Given the description of an element on the screen output the (x, y) to click on. 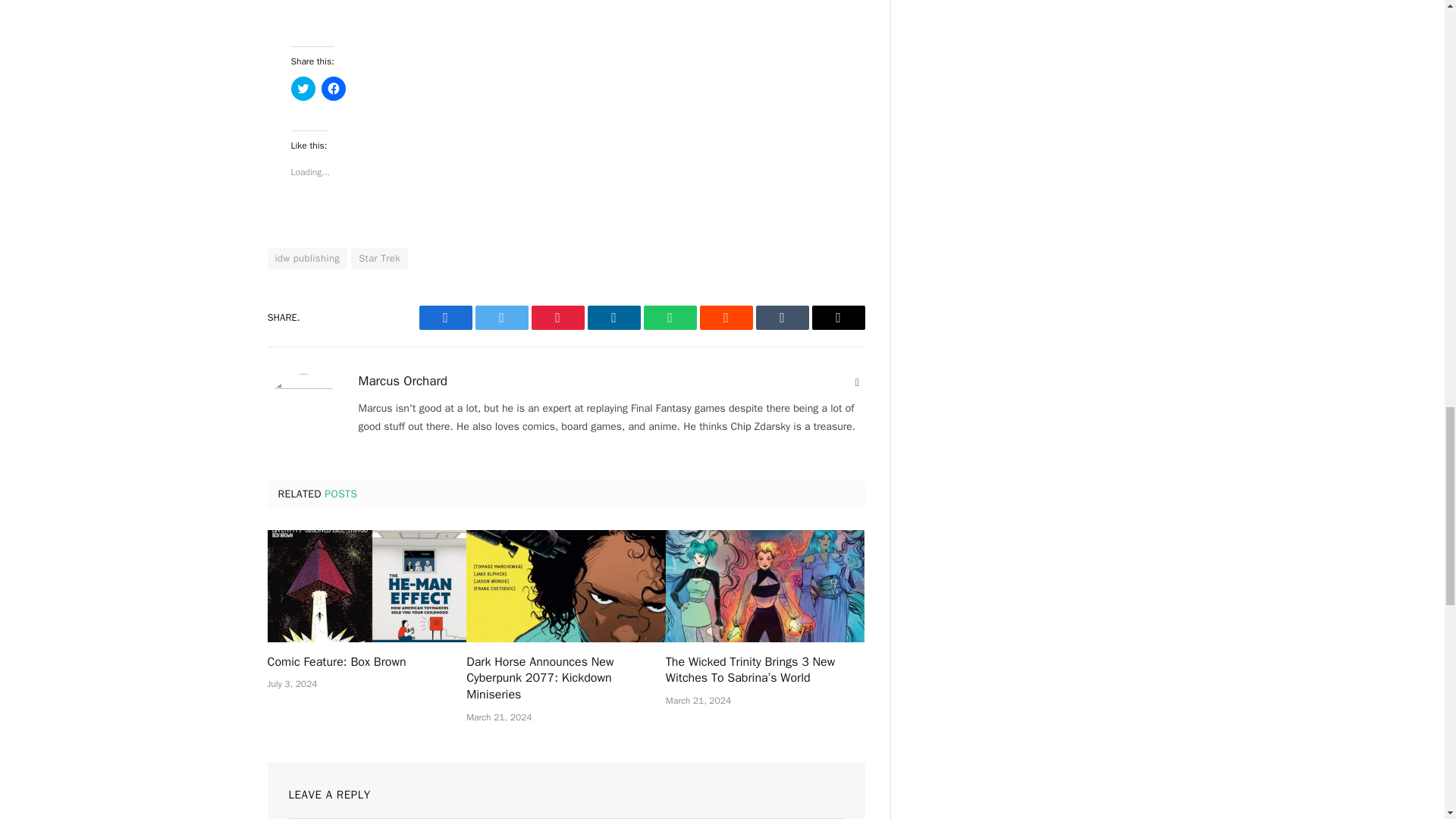
Click to share on Twitter (303, 88)
